Given the description of an element on the screen output the (x, y) to click on. 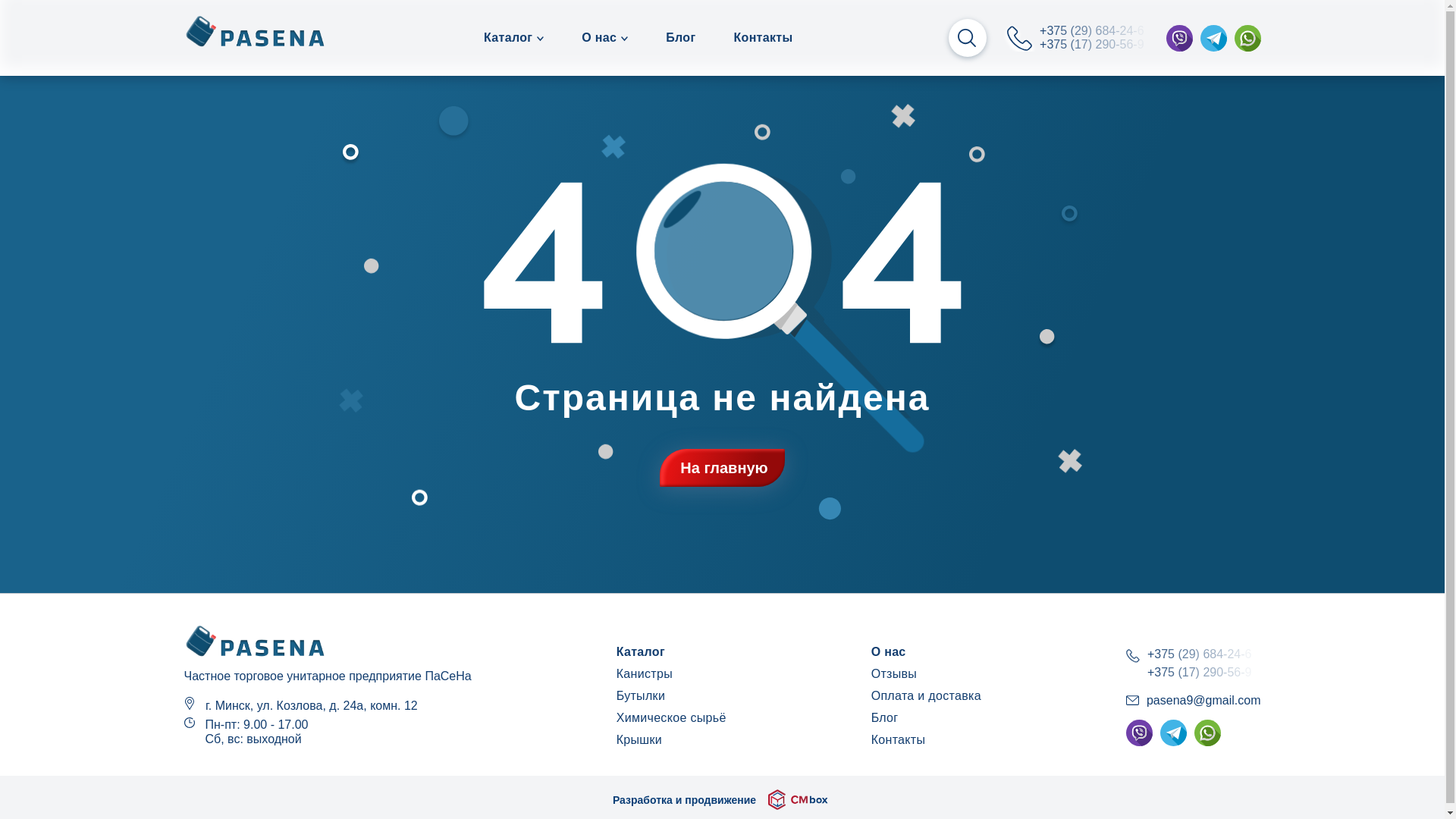
+375 (17) 290-56-9 Element type: text (1094, 44)
pasena9@gmail.com Element type: text (1203, 700)
+375 (29) 684-24-6 Element type: text (1094, 30)
+375 (17) 290-56-9 Element type: text (1202, 672)
+375 (29) 684-24-6 Element type: text (1202, 654)
